Given the description of an element on the screen output the (x, y) to click on. 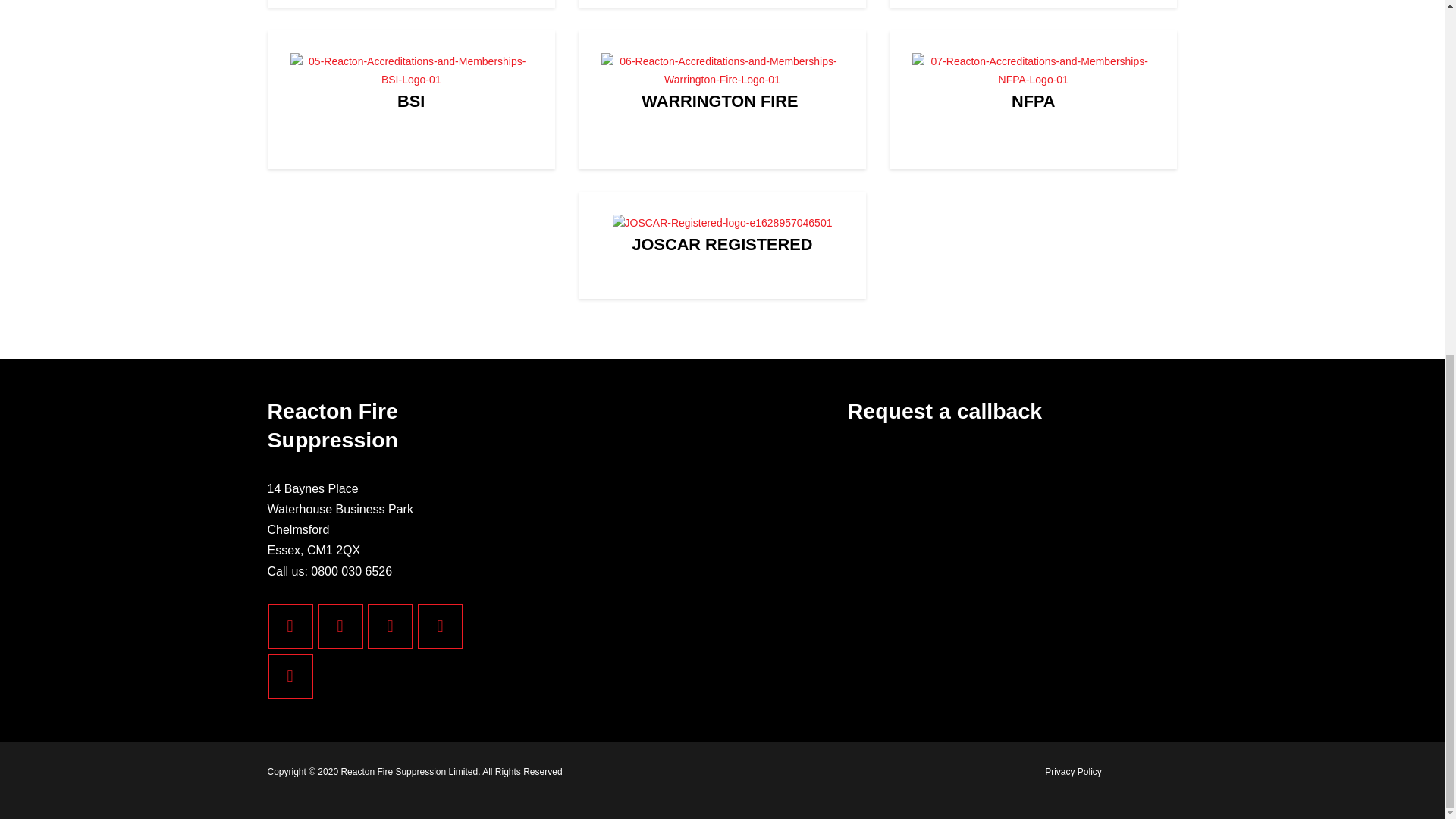
JOSCAR-Registered-logo-e1628957046501 (722, 504)
07-Reacton-Accreditations-and-Memberships-NFPA-Logo-01 (1033, 165)
05-Reacton-Accreditations-and-Memberships-BSI-Logo-01 (410, 165)
